Given the description of an element on the screen output the (x, y) to click on. 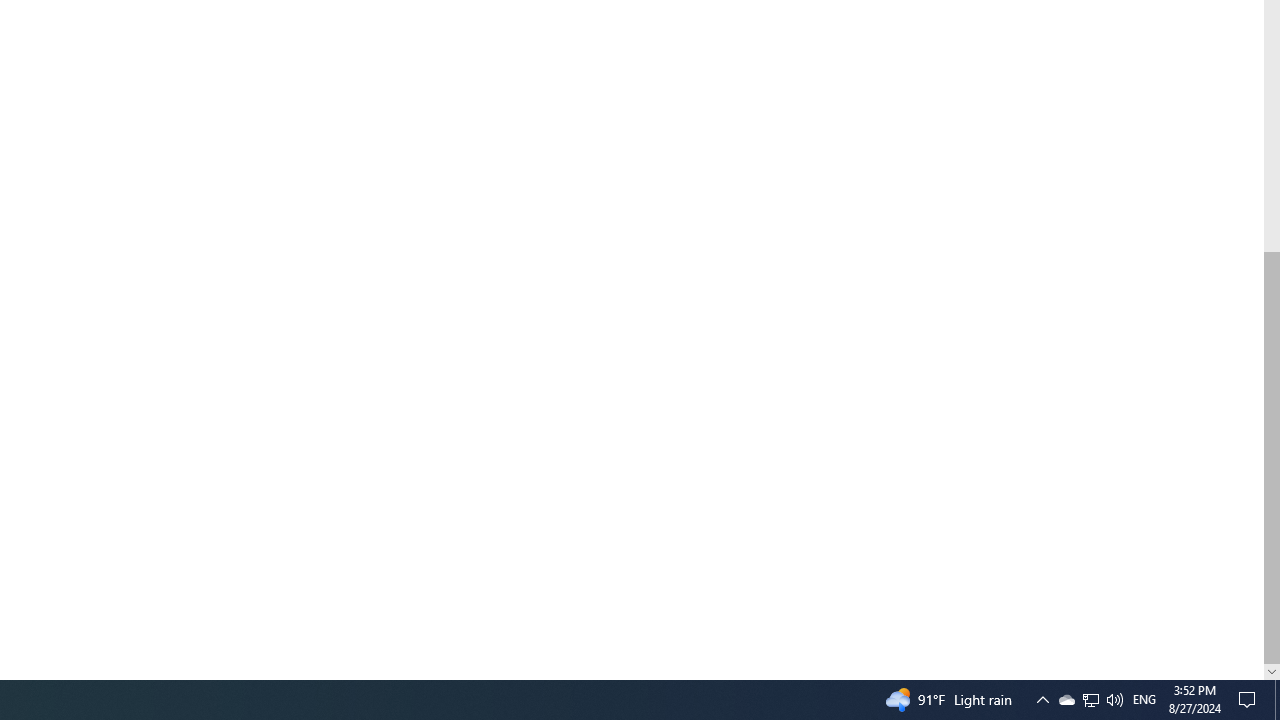
Vertical Small Increase (1272, 671)
